Given the description of an element on the screen output the (x, y) to click on. 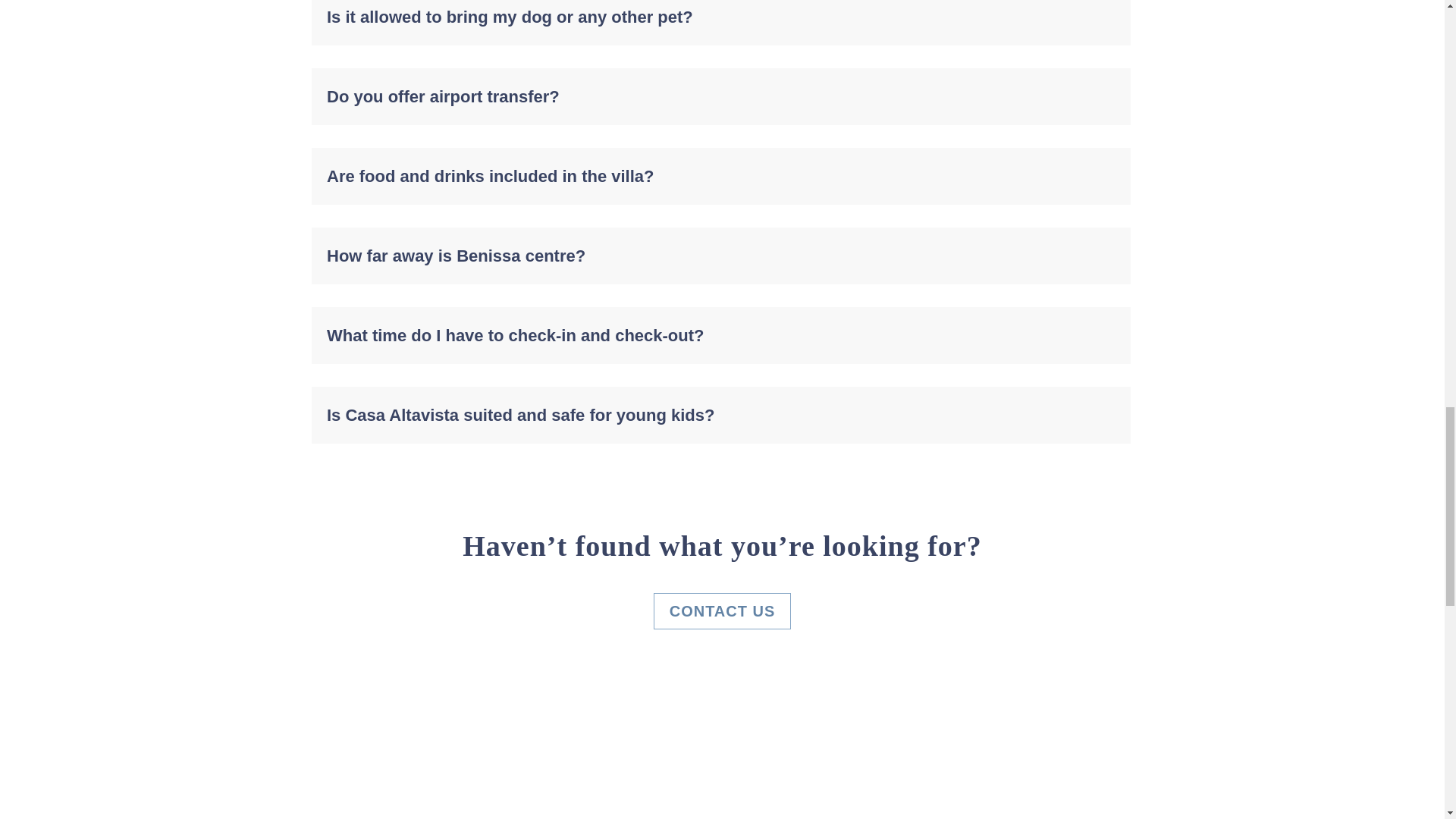
CONTACT US (722, 610)
